Given the description of an element on the screen output the (x, y) to click on. 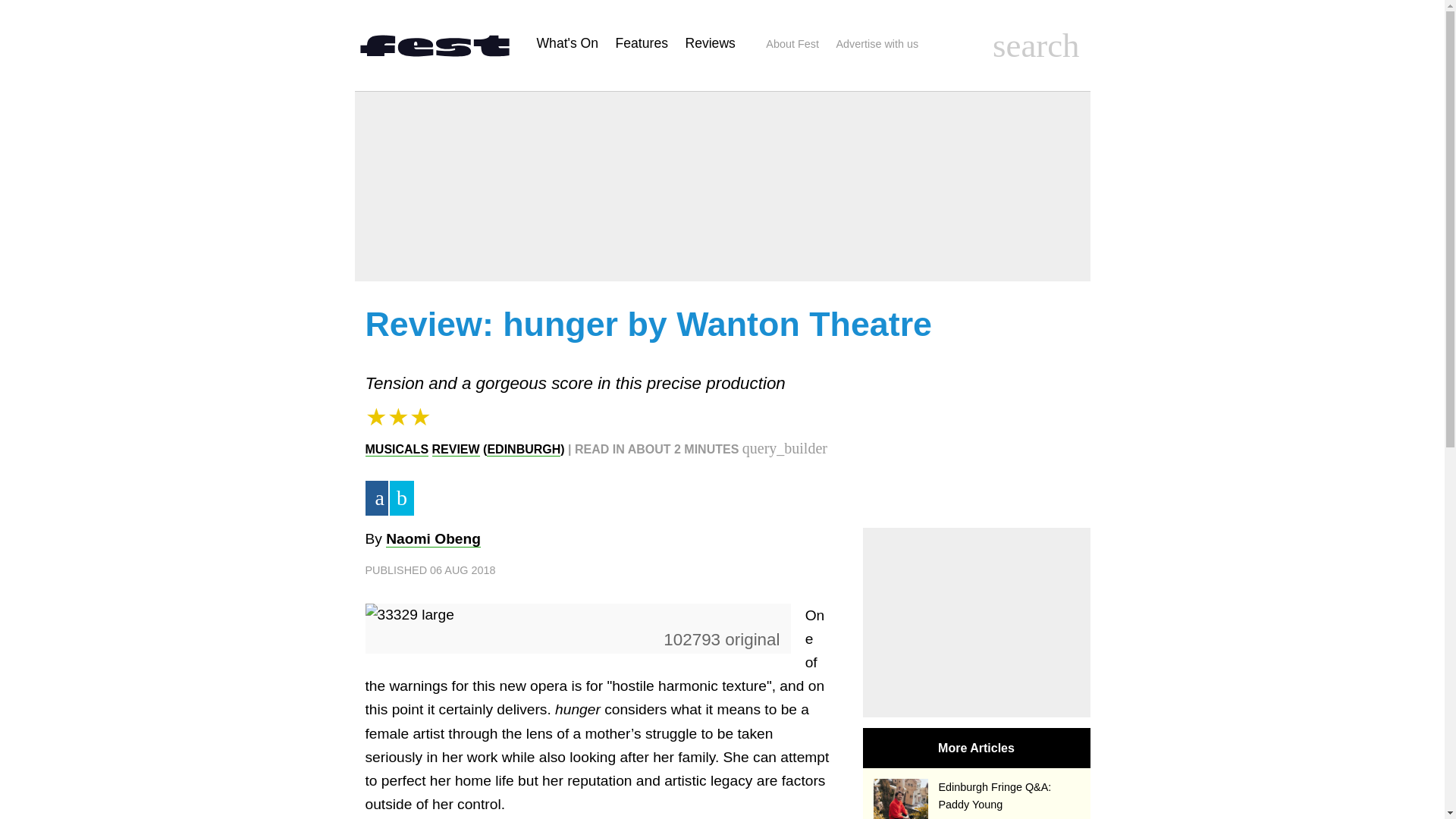
What's On (567, 43)
EDINBURGH (523, 449)
search (1035, 45)
About Fest (791, 43)
Features (641, 43)
Advertise with us (876, 43)
REVIEW (456, 449)
MUSICALS (397, 449)
Reviews (709, 43)
